Given the description of an element on the screen output the (x, y) to click on. 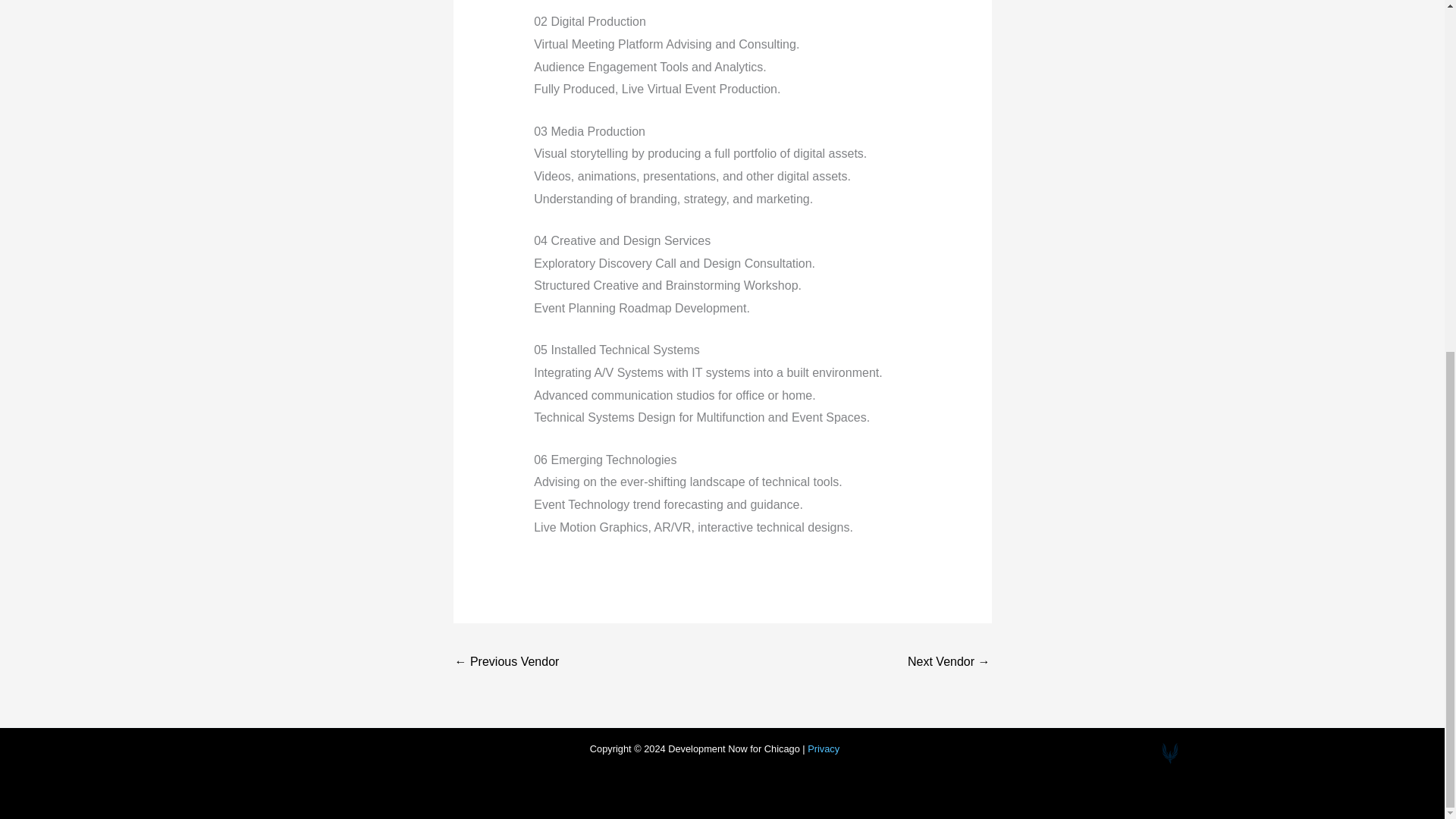
Aztec Graphics Group (506, 663)
